Given the description of an element on the screen output the (x, y) to click on. 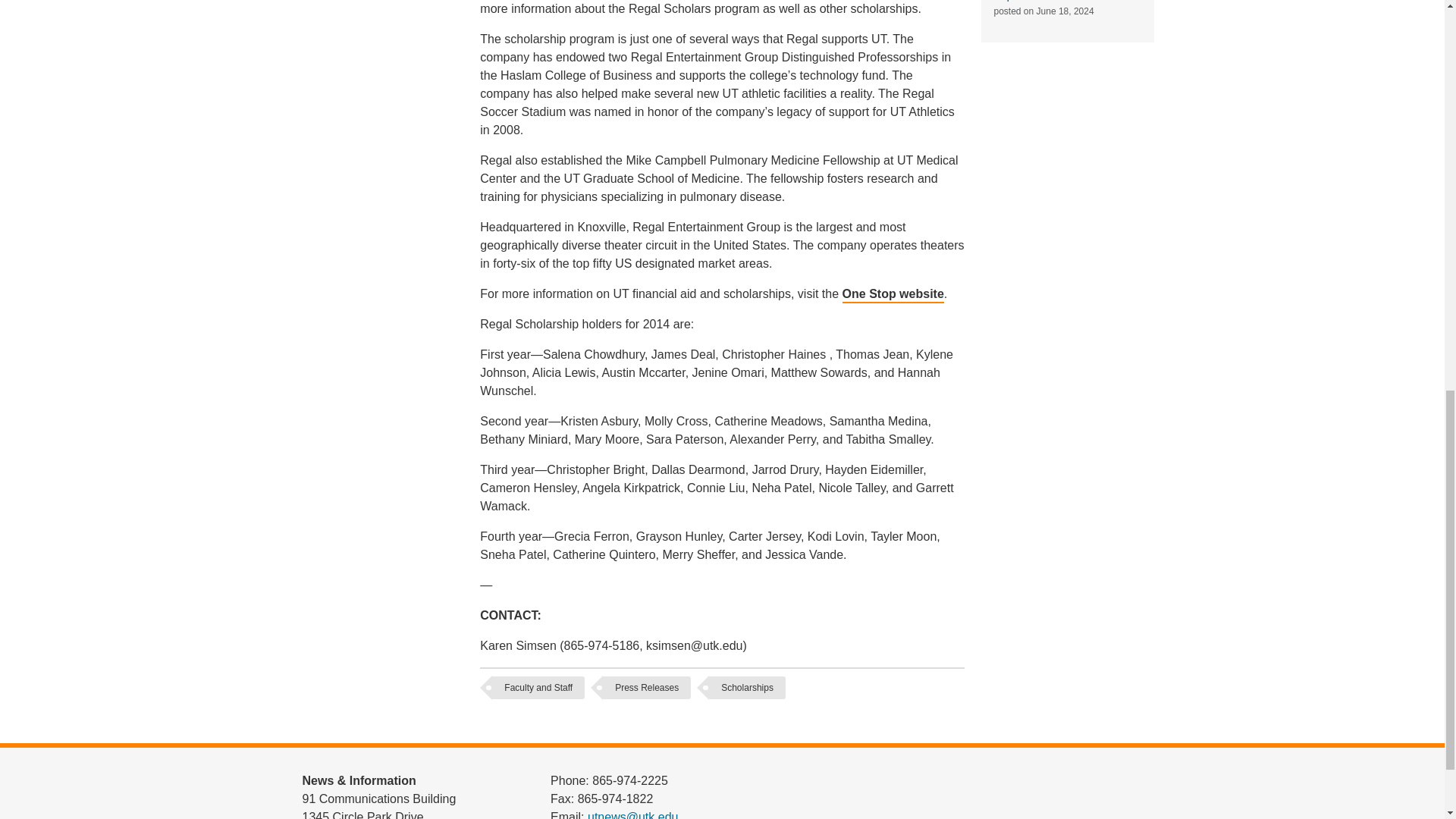
One Stop website (893, 295)
Press Releases (646, 687)
Faculty and Staff (538, 687)
Scholarships (747, 687)
Graduate Engineering Programs Ranked Among Top in the Nation (1062, 0)
